Given the description of an element on the screen output the (x, y) to click on. 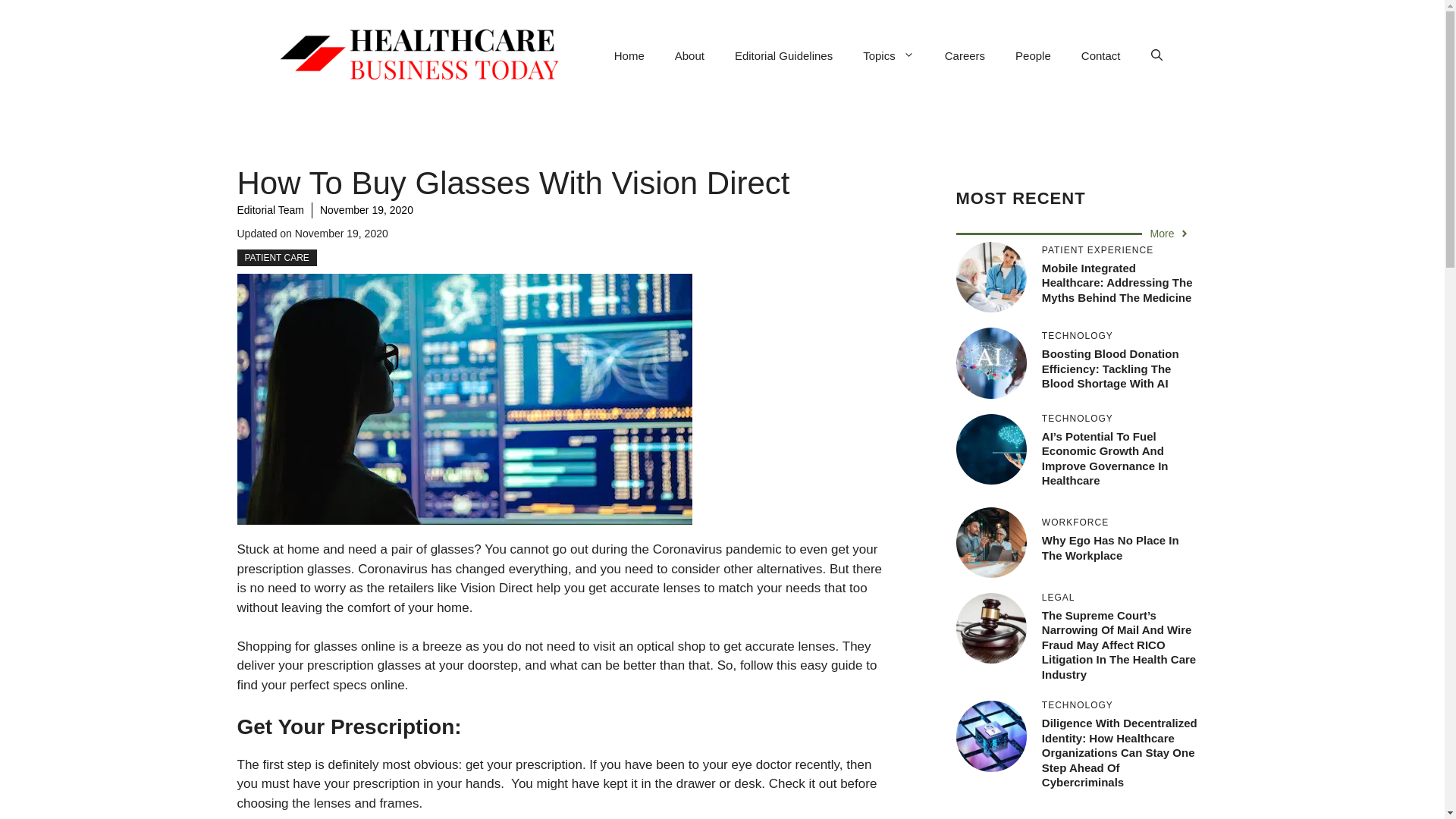
Topics (888, 55)
Editorial Team (268, 209)
Careers (965, 55)
More (1170, 233)
Home (628, 55)
PATIENT CARE (275, 257)
About (689, 55)
Contact (1100, 55)
People (1032, 55)
Editorial Guidelines (783, 55)
